Given the description of an element on the screen output the (x, y) to click on. 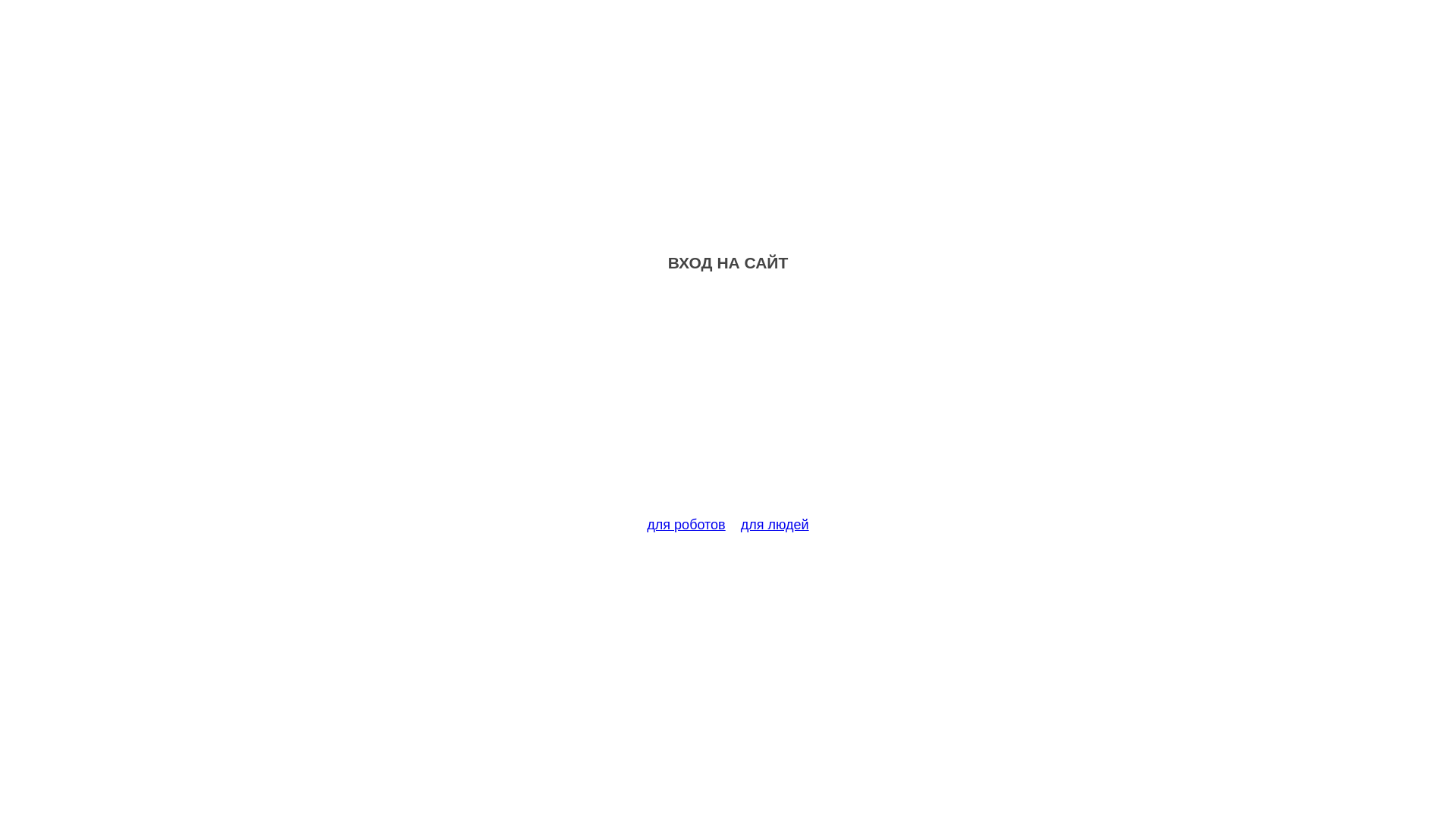
Advertisement Element type: hover (727, 403)
